Given the description of an element on the screen output the (x, y) to click on. 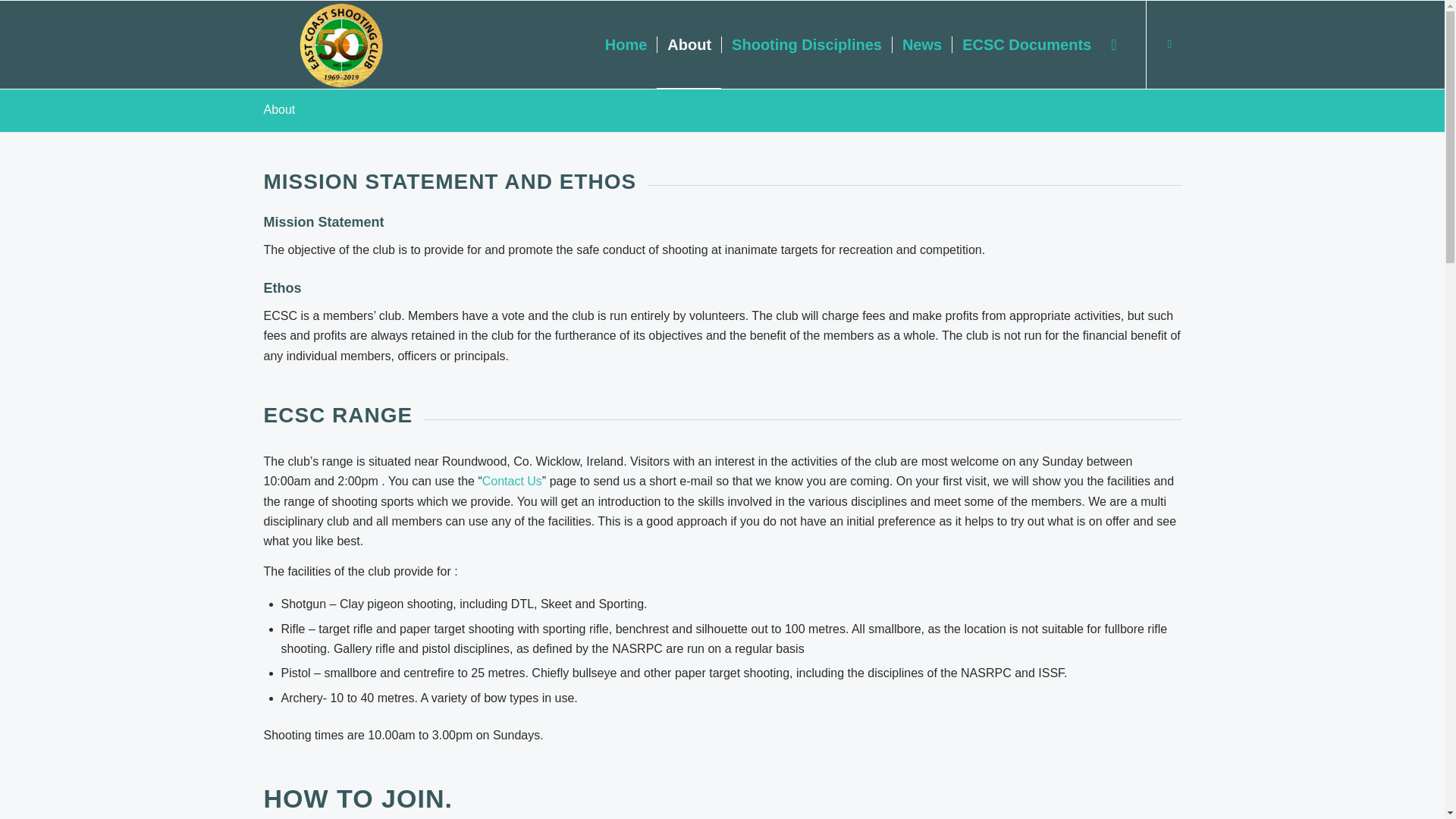
Permanent Link: About (279, 109)
Contact Us (511, 481)
Facebook (1169, 43)
Shooting Disciplines (805, 44)
Contact Us (511, 481)
ECSC Documents (1026, 44)
About (279, 109)
